Given the description of an element on the screen output the (x, y) to click on. 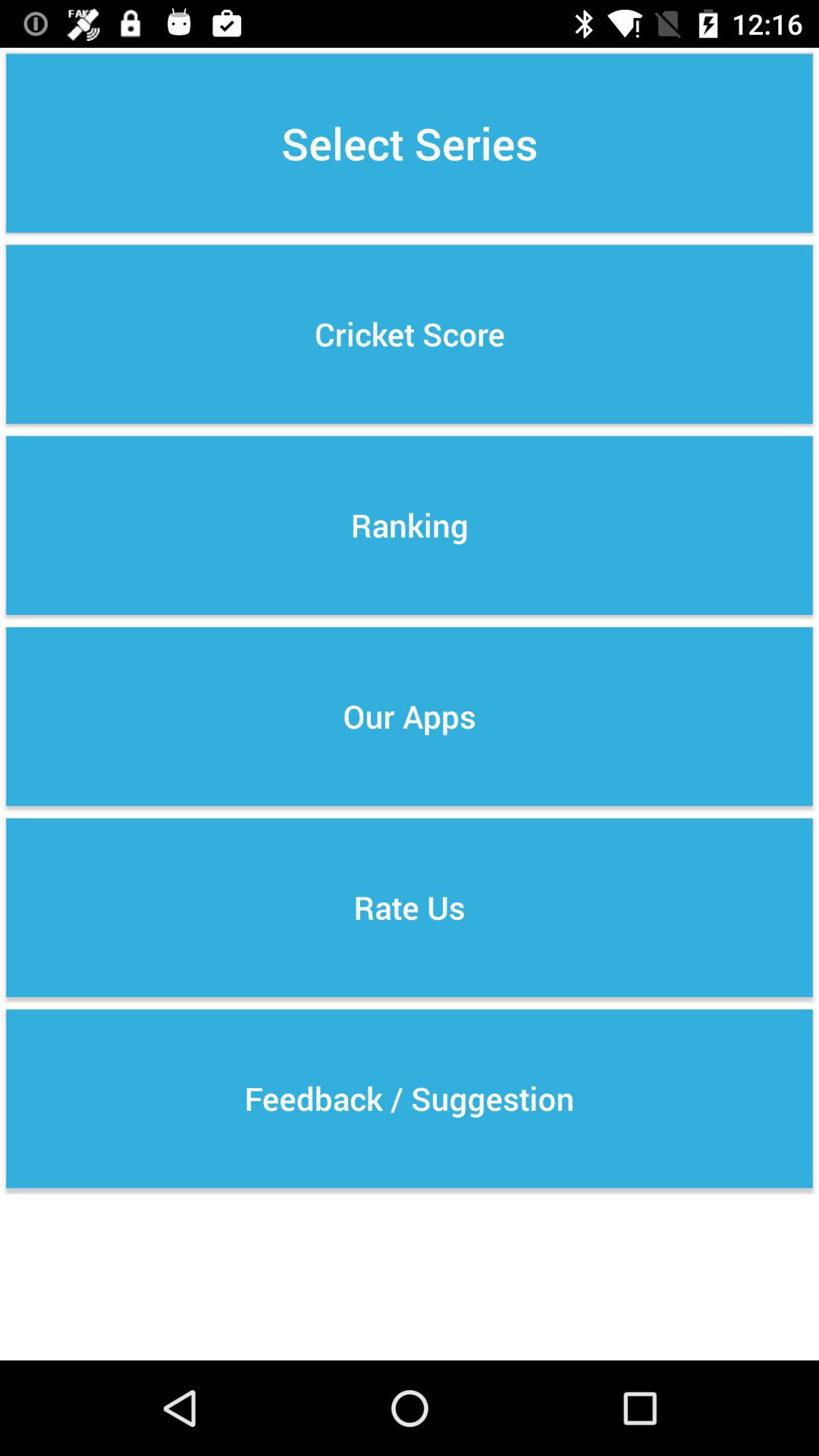
select icon below our apps (409, 907)
